Given the description of an element on the screen output the (x, y) to click on. 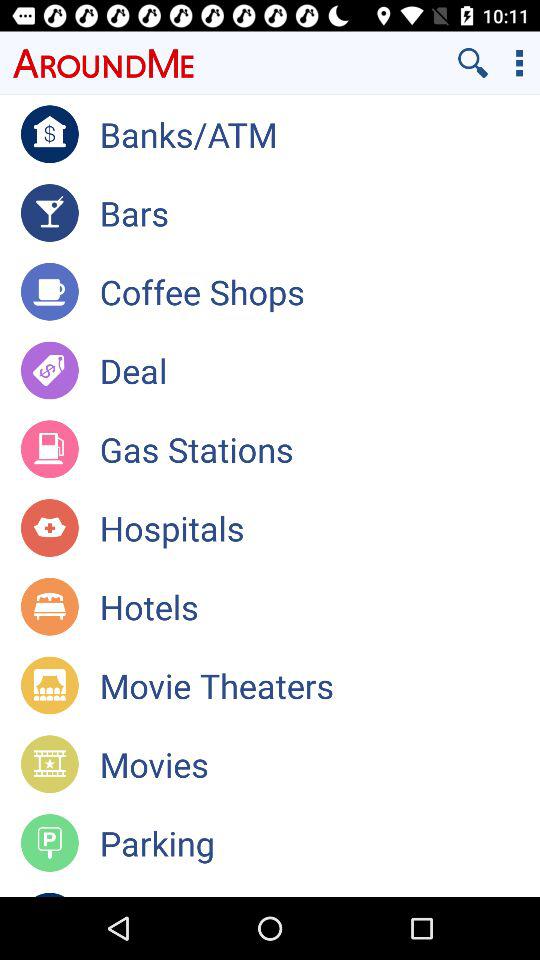
scroll until the hospitals icon (319, 527)
